Given the description of an element on the screen output the (x, y) to click on. 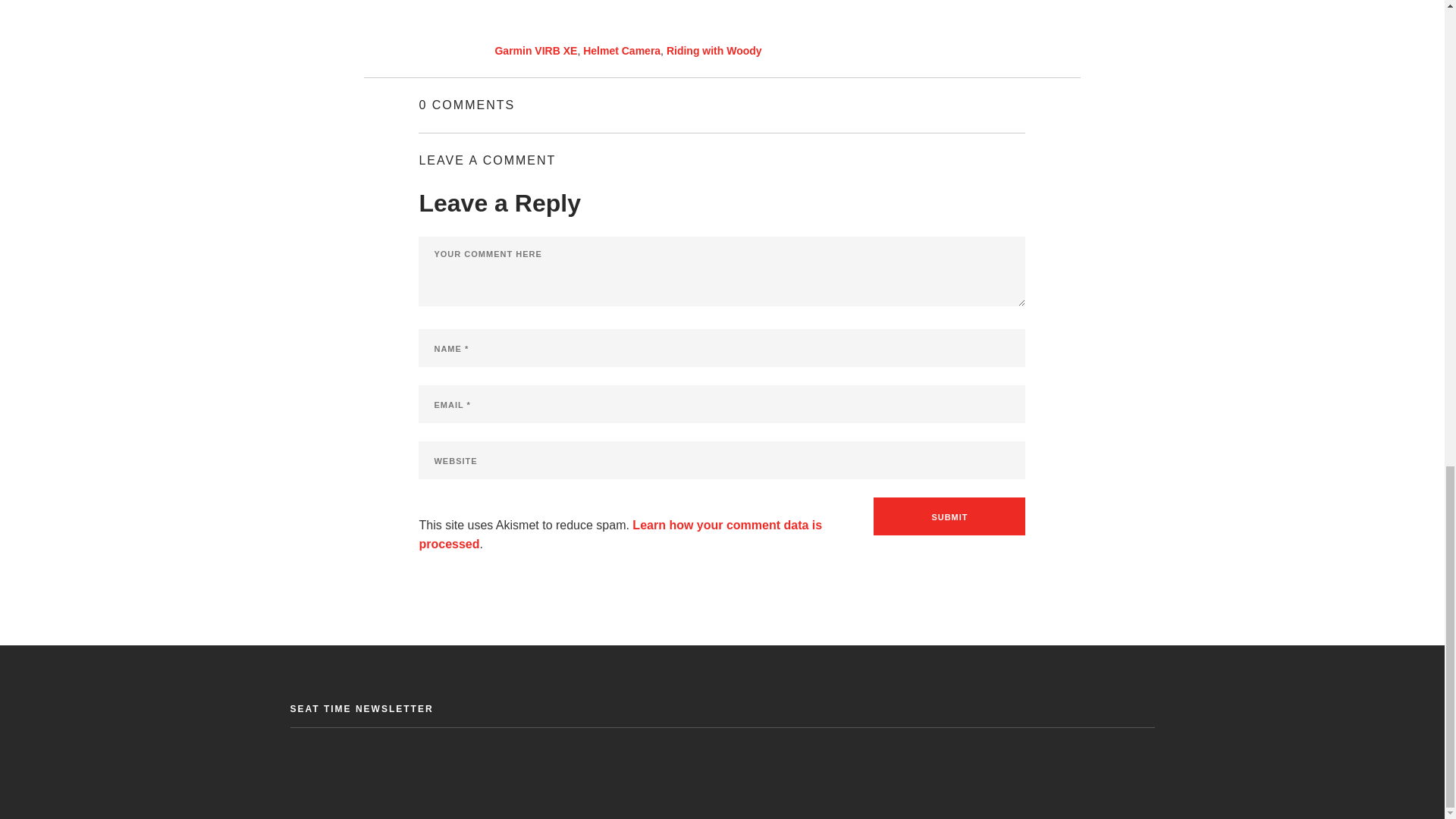
Garmin VIRB XE (535, 50)
Riding with Woody (713, 50)
Submit (949, 516)
Learn how your comment data is processed (620, 534)
Submit (949, 516)
Helmet Camera (622, 50)
